Given the description of an element on the screen output the (x, y) to click on. 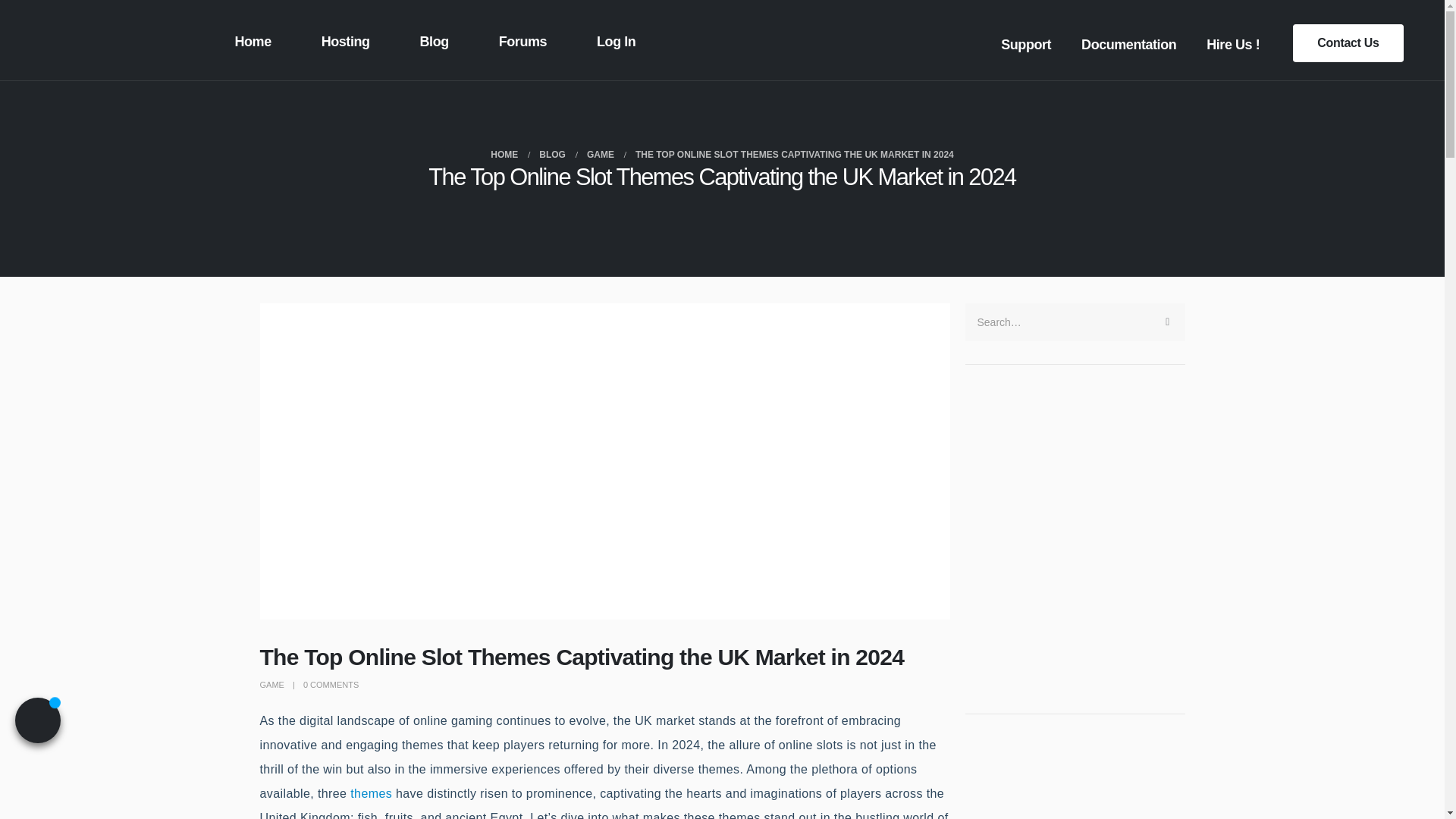
footer-logo (104, 39)
Log In (616, 39)
Hosting (346, 39)
Forums (523, 39)
themes (370, 793)
Support (1026, 42)
Documentation (1129, 42)
Go to Home Page (504, 154)
GAME (271, 684)
0 COMMENTS (330, 684)
HOME (504, 154)
Hire Us ! (1233, 42)
GAME (600, 154)
0 COMMENTS (330, 684)
BLOG (552, 154)
